Given the description of an element on the screen output the (x, y) to click on. 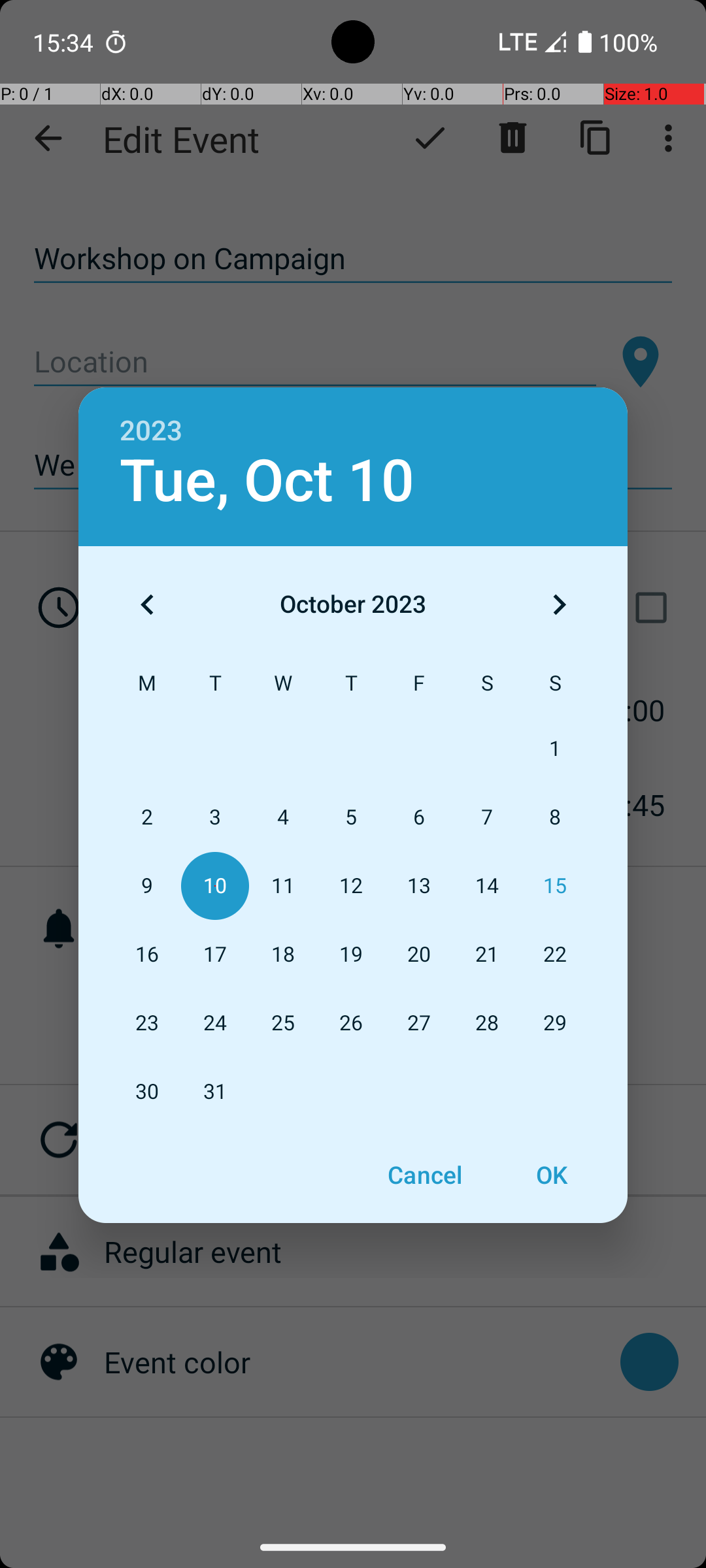
Tue, Oct 10 Element type: android.widget.TextView (267, 480)
